Given the description of an element on the screen output the (x, y) to click on. 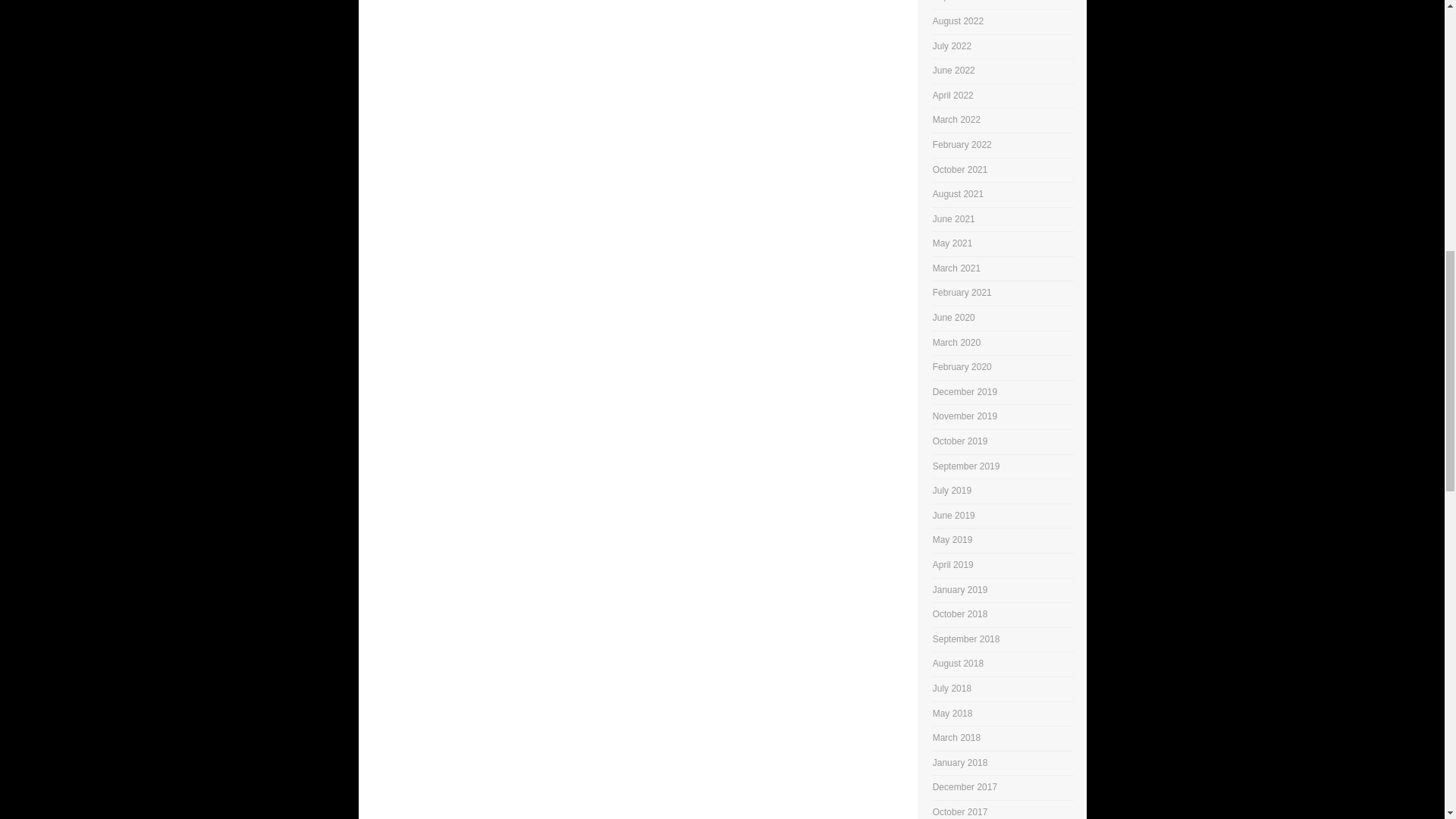
September 2022 (966, 0)
August 2022 (958, 20)
